Given the description of an element on the screen output the (x, y) to click on. 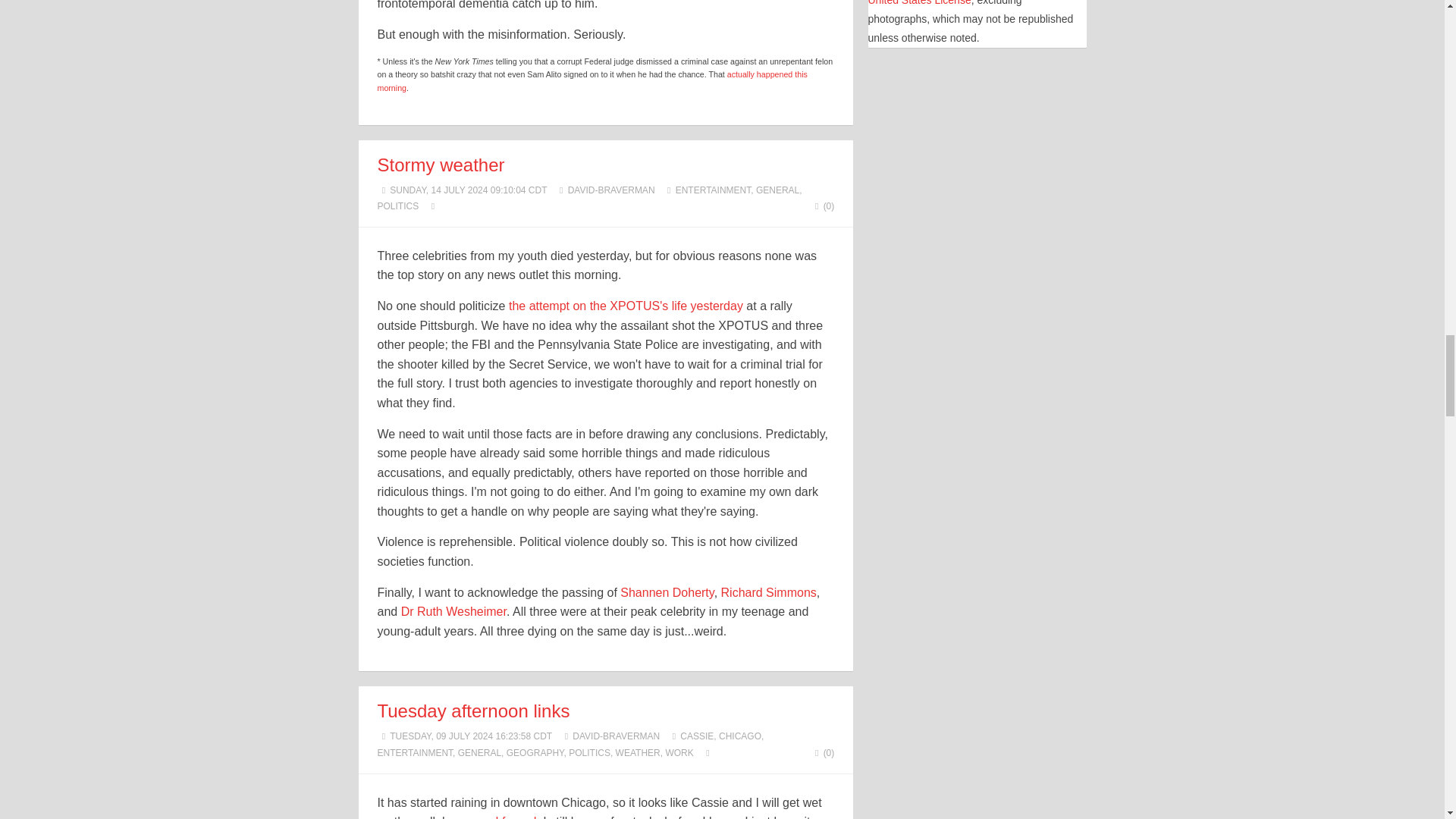
Open a map of the location where this post was written (707, 752)
Open a map of the location where this post was written (432, 205)
